Given the description of an element on the screen output the (x, y) to click on. 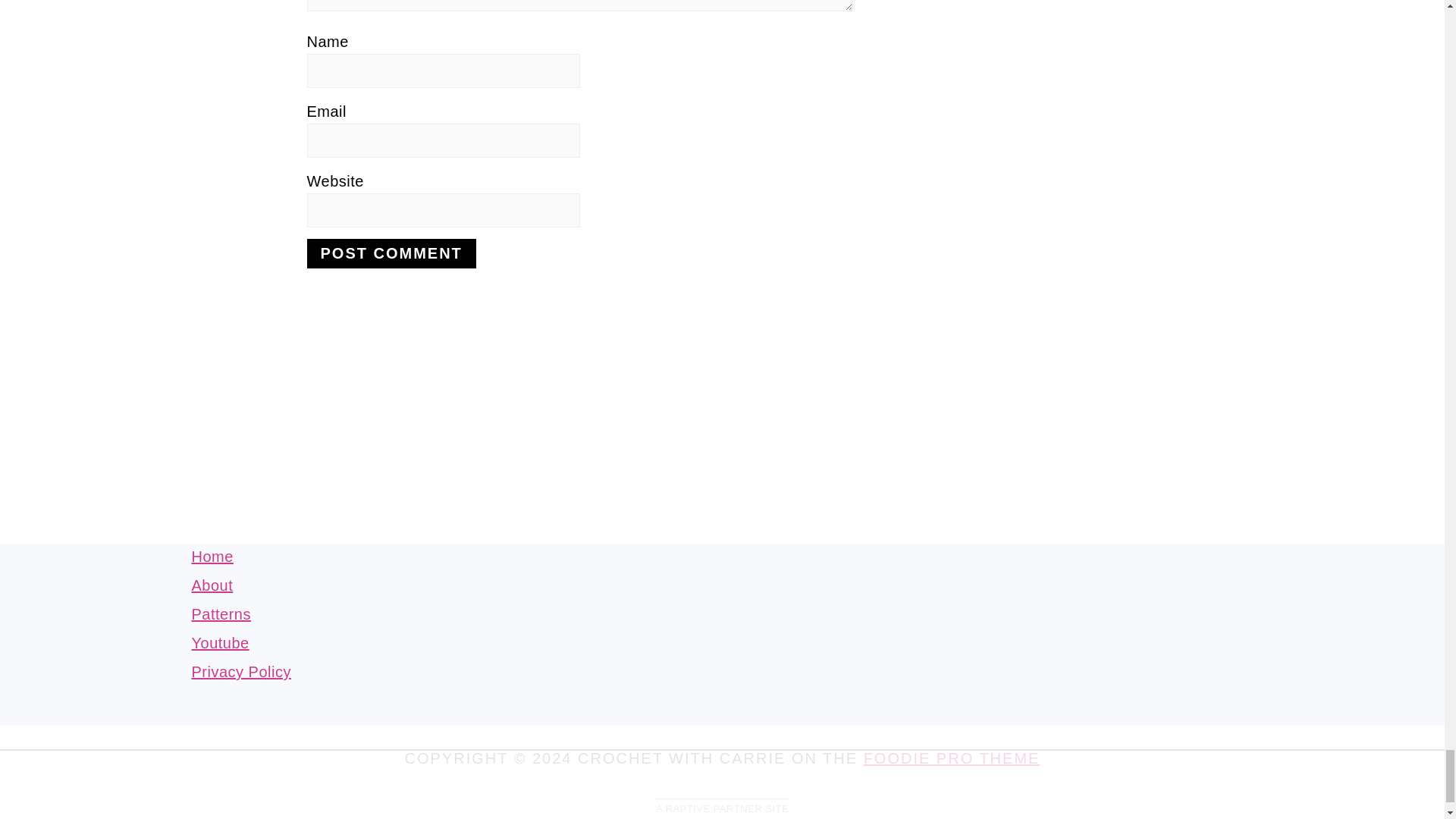
Post Comment (390, 253)
Post Comment (390, 253)
